Given the description of an element on the screen output the (x, y) to click on. 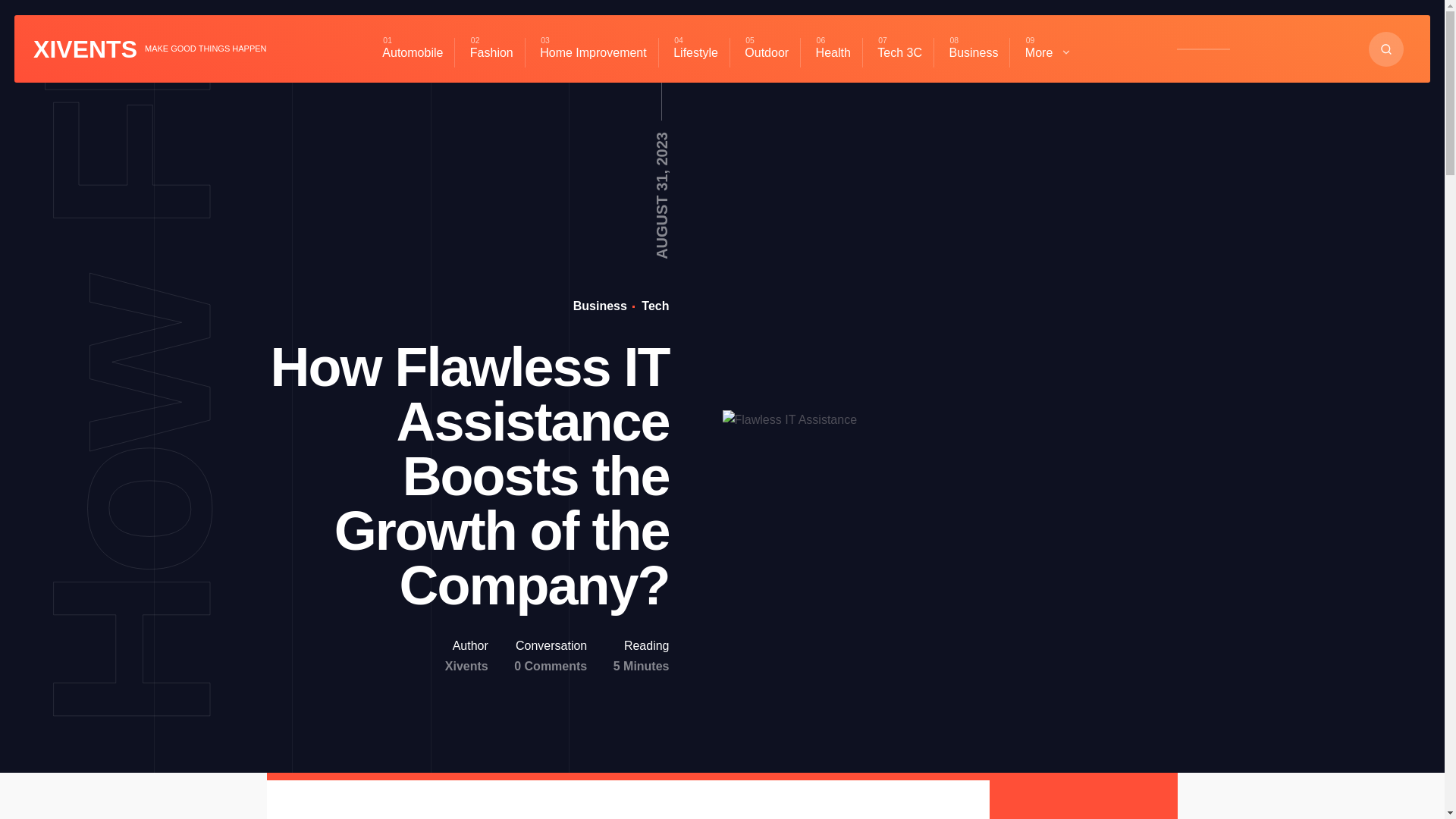
Lifestyle (695, 52)
Xivents (466, 666)
Fashion (491, 52)
Tech (654, 305)
Tech 3C (899, 52)
0 Comments (549, 666)
More (1048, 52)
Business (973, 52)
Outdoor (766, 52)
XIVENTS (84, 49)
Health (833, 52)
Business (600, 305)
Automobile (412, 52)
Home Improvement (593, 52)
